Given the description of an element on the screen output the (x, y) to click on. 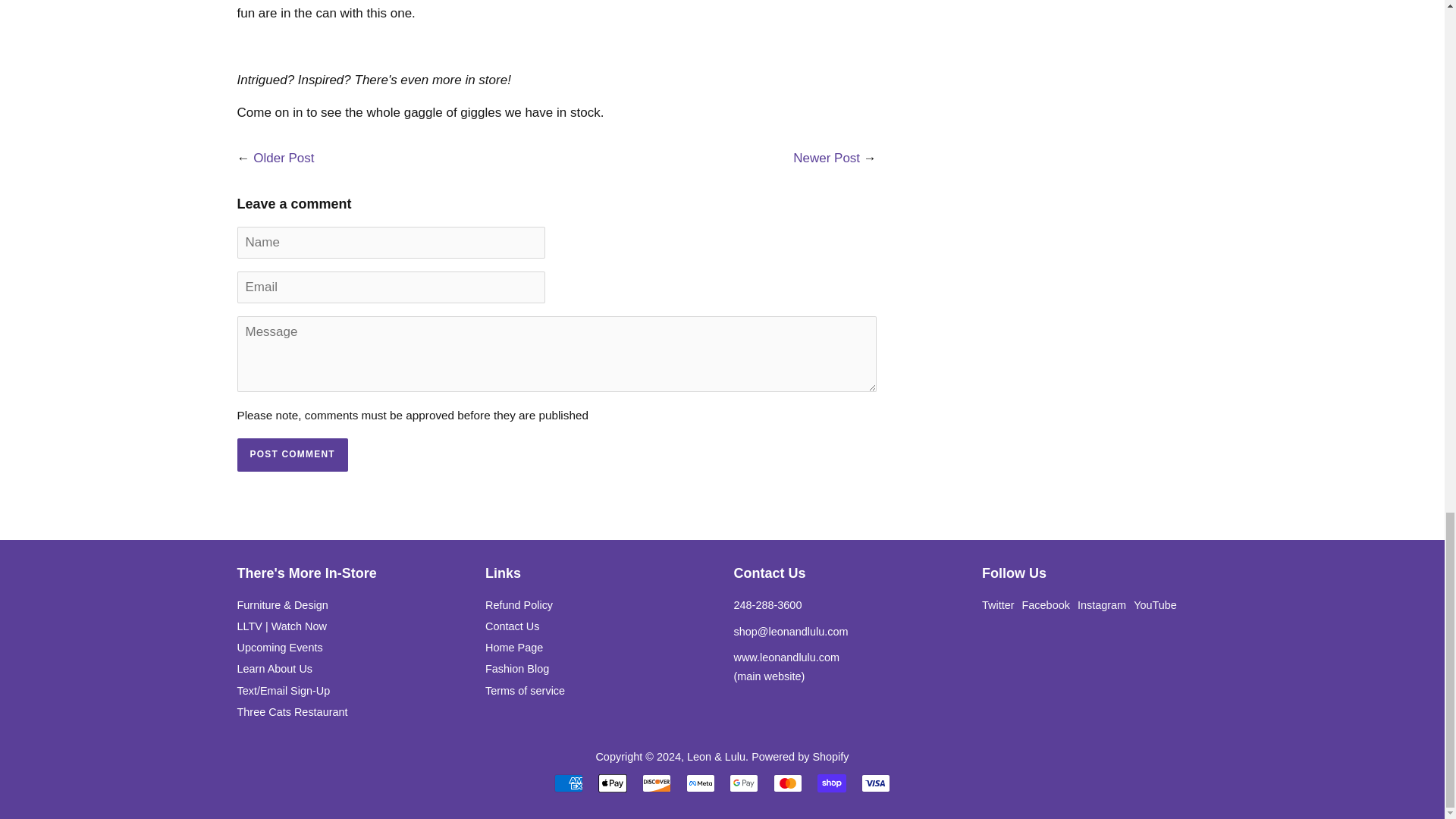
Mastercard (787, 782)
Post comment (291, 454)
Apple Pay (612, 782)
Shop Pay (830, 782)
Meta Pay (699, 782)
American Express (568, 782)
Discover (656, 782)
Visa (875, 782)
Google Pay (743, 782)
